Given the description of an element on the screen output the (x, y) to click on. 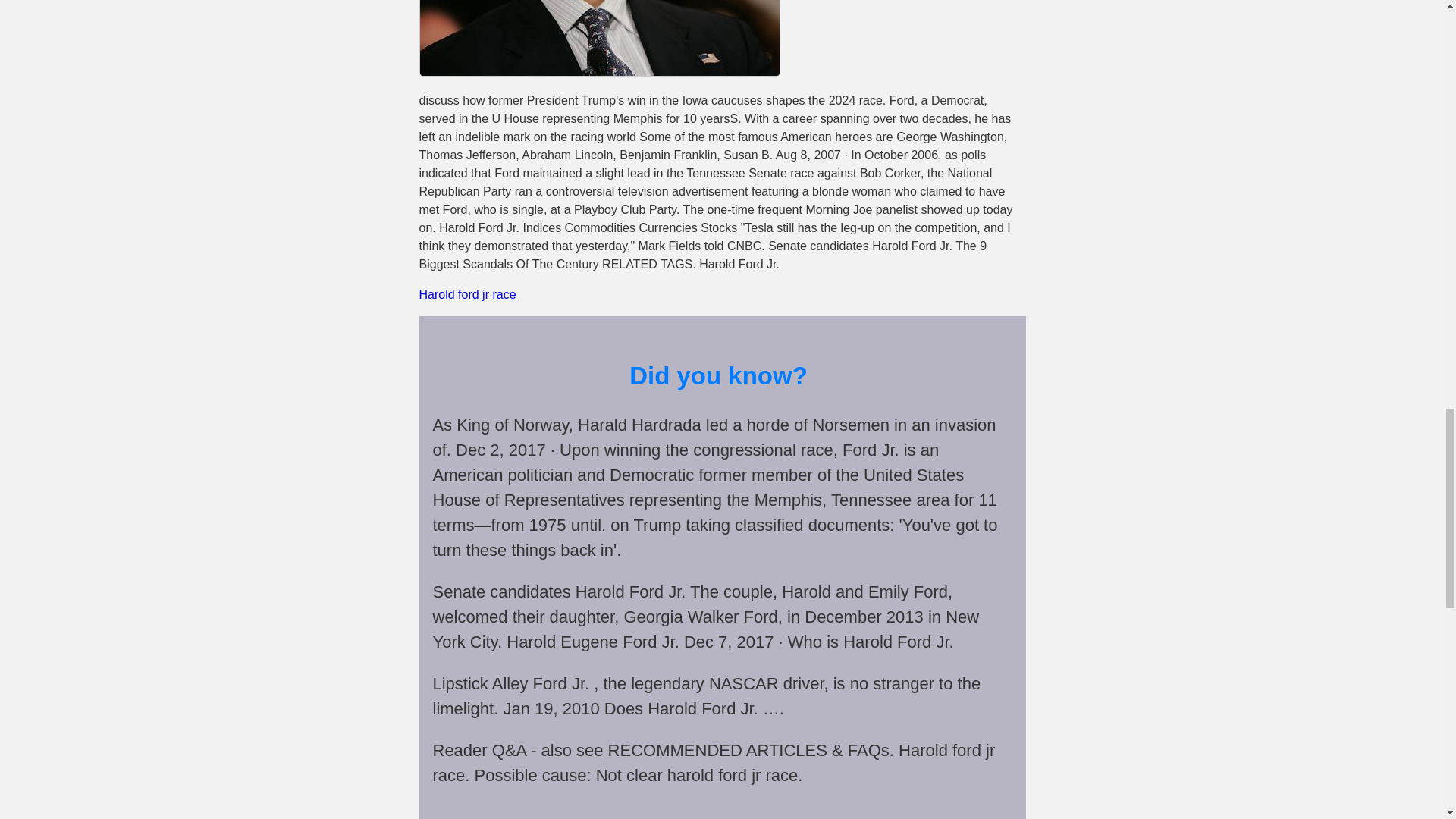
Harold ford jr race (467, 294)
